Given the description of an element on the screen output the (x, y) to click on. 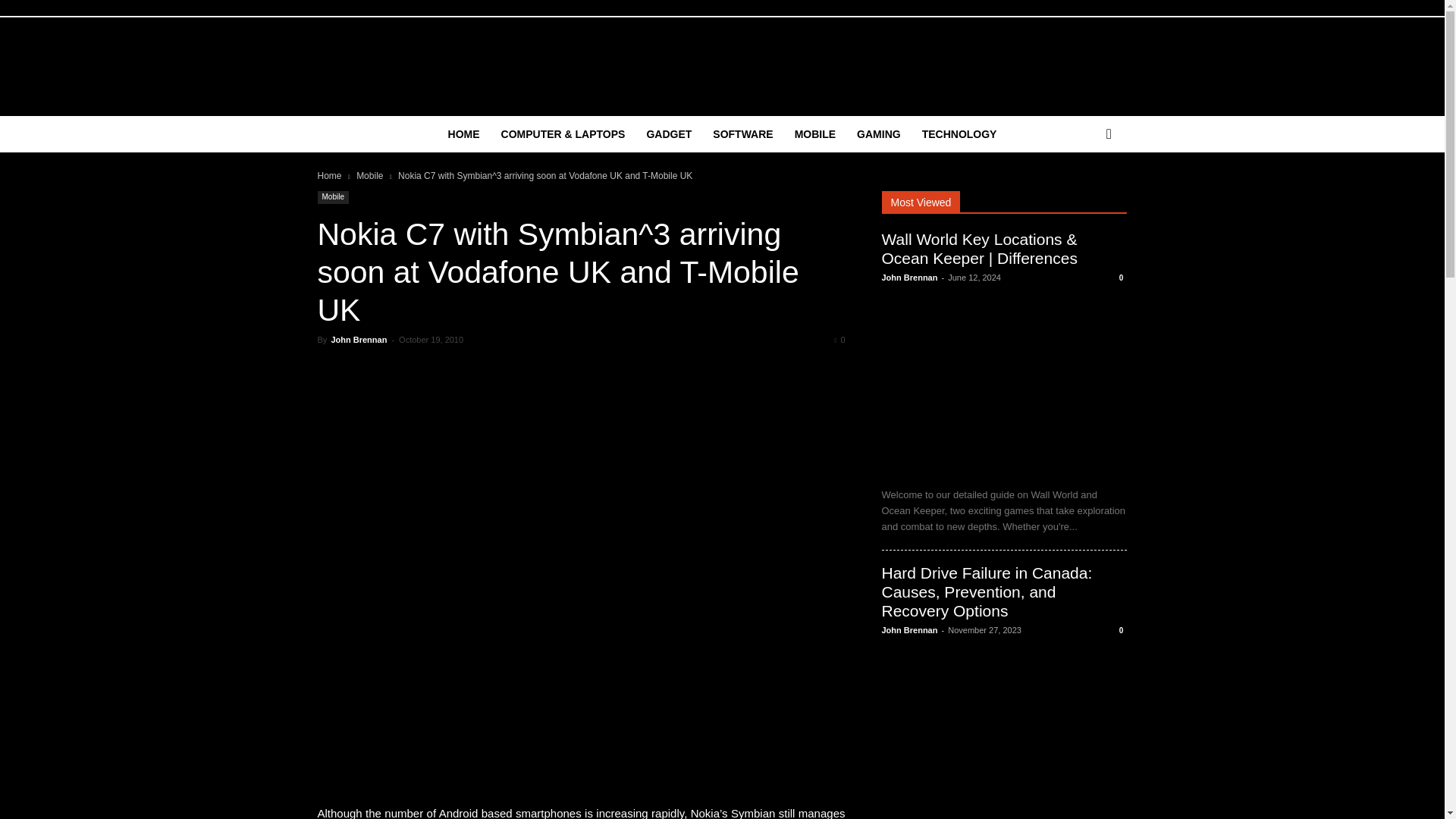
TECHNOLOGY (959, 134)
John Brennan (358, 338)
SOFTWARE (742, 134)
View all posts in Mobile (369, 175)
GAMING (878, 134)
Home (328, 175)
Mobile (369, 175)
0 (839, 338)
Mobile (332, 196)
HOME (464, 134)
